Given the description of an element on the screen output the (x, y) to click on. 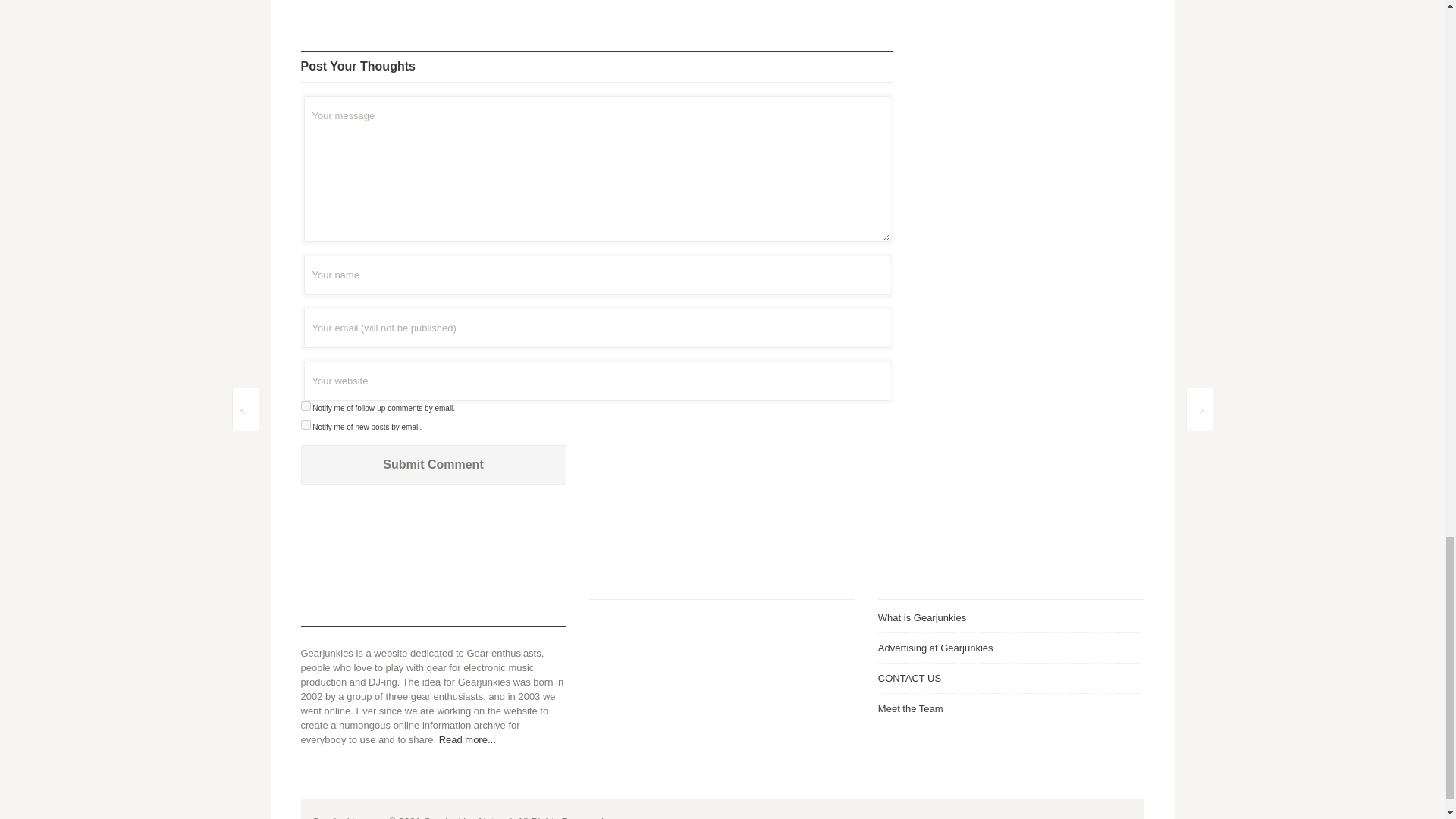
Submit Comment (432, 464)
subscribe (304, 424)
subscribe (304, 406)
